Given the description of an element on the screen output the (x, y) to click on. 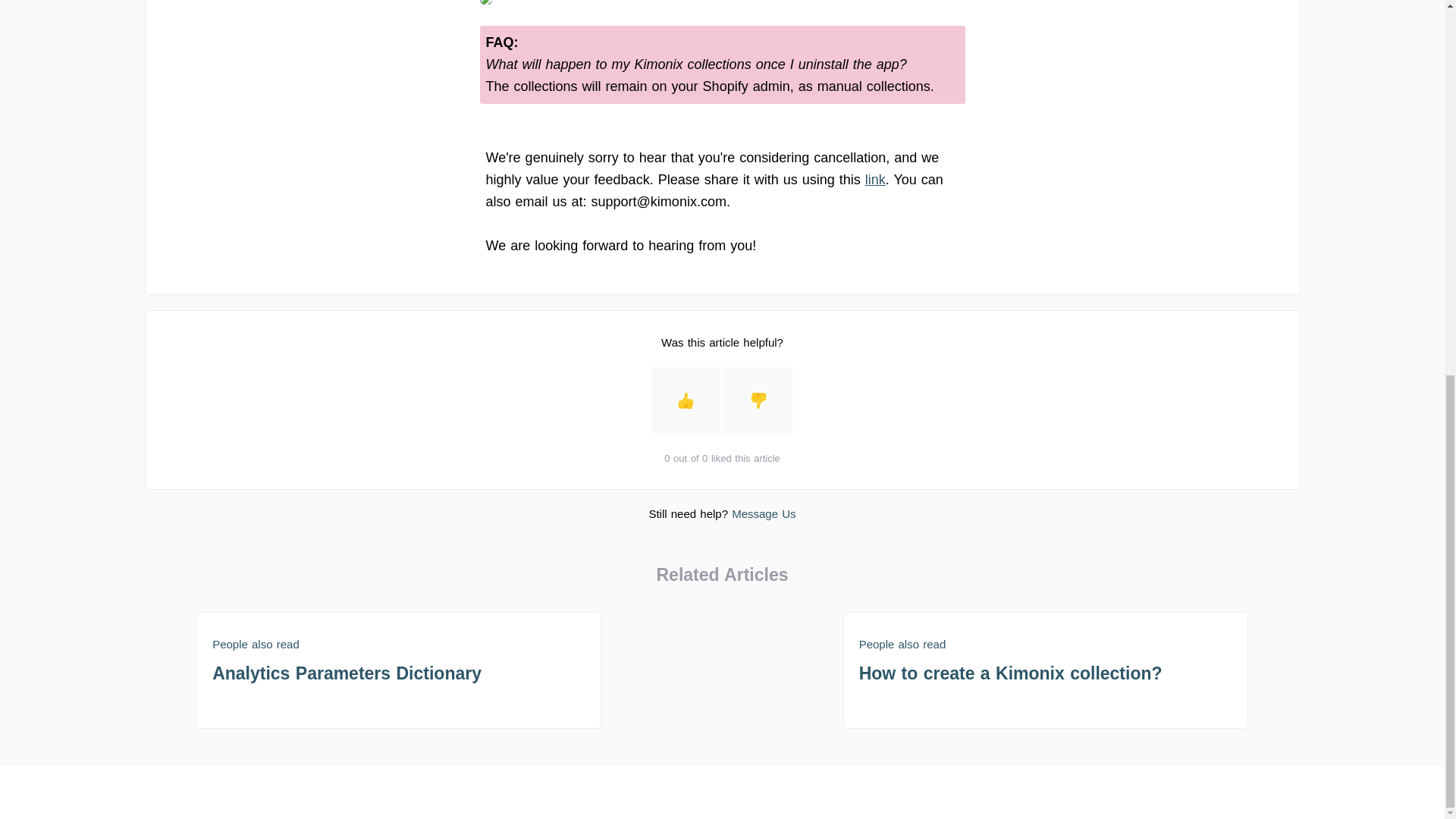
link (874, 179)
Message Us (398, 669)
